Given the description of an element on the screen output the (x, y) to click on. 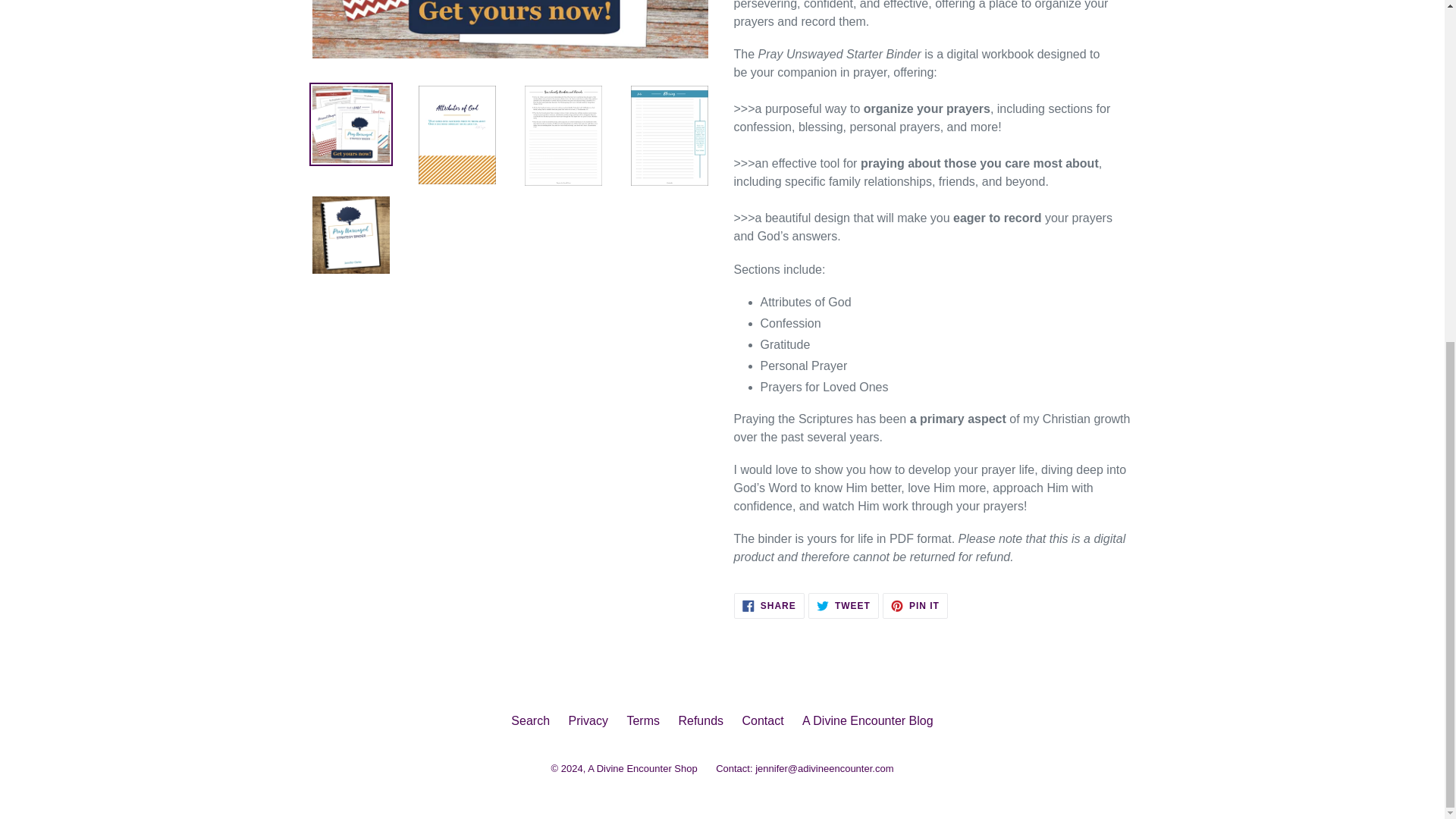
Terms (642, 720)
A Divine Encounter Blog (769, 605)
Contact (867, 720)
Search (762, 720)
Refunds (530, 720)
A Divine Encounter Shop (843, 605)
Privacy (700, 720)
